Given the description of an element on the screen output the (x, y) to click on. 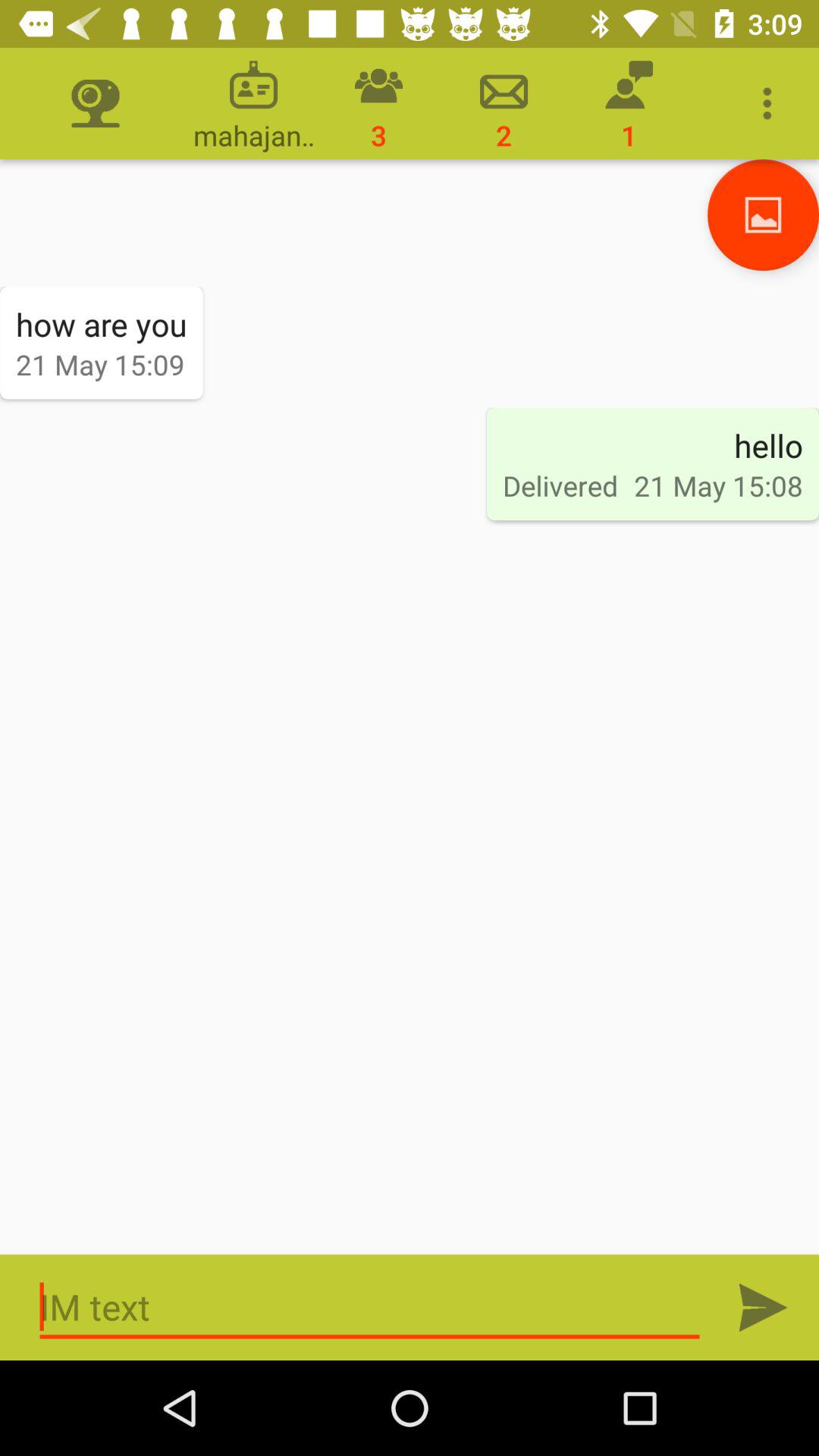
send text (763, 1307)
